Given the description of an element on the screen output the (x, y) to click on. 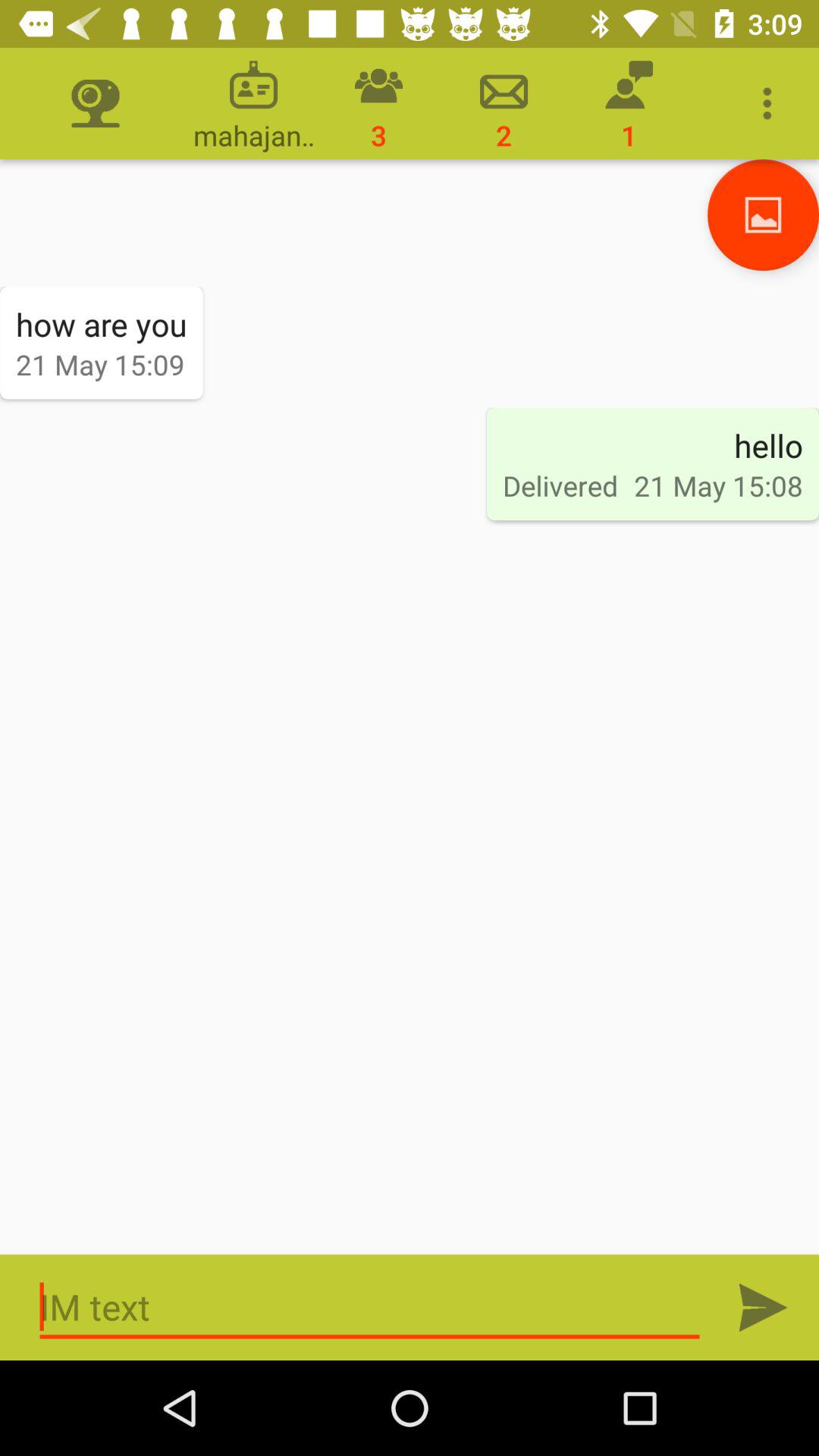
send text (763, 1307)
